Given the description of an element on the screen output the (x, y) to click on. 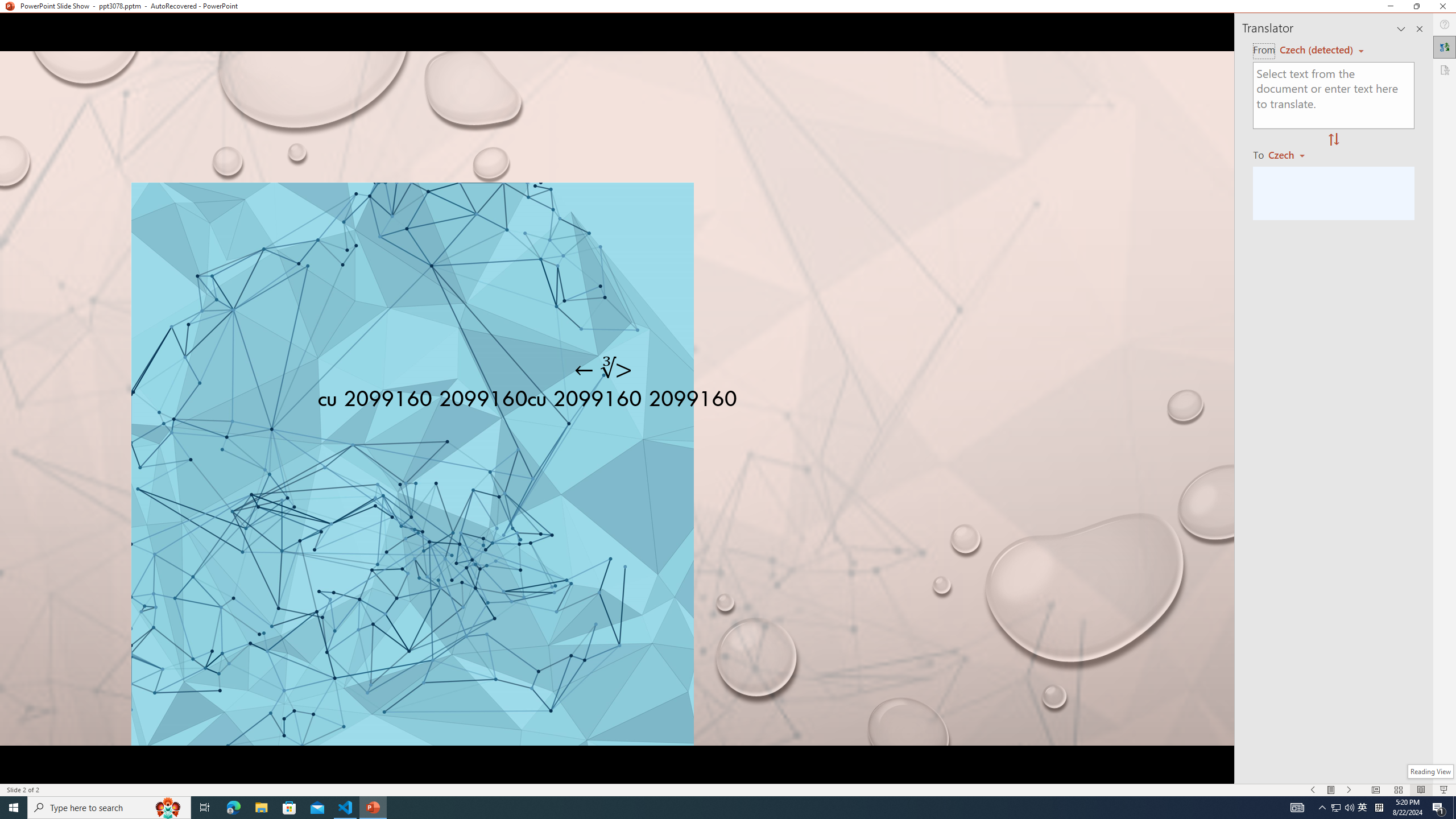
Slide Show Next On (1349, 790)
